Given the description of an element on the screen output the (x, y) to click on. 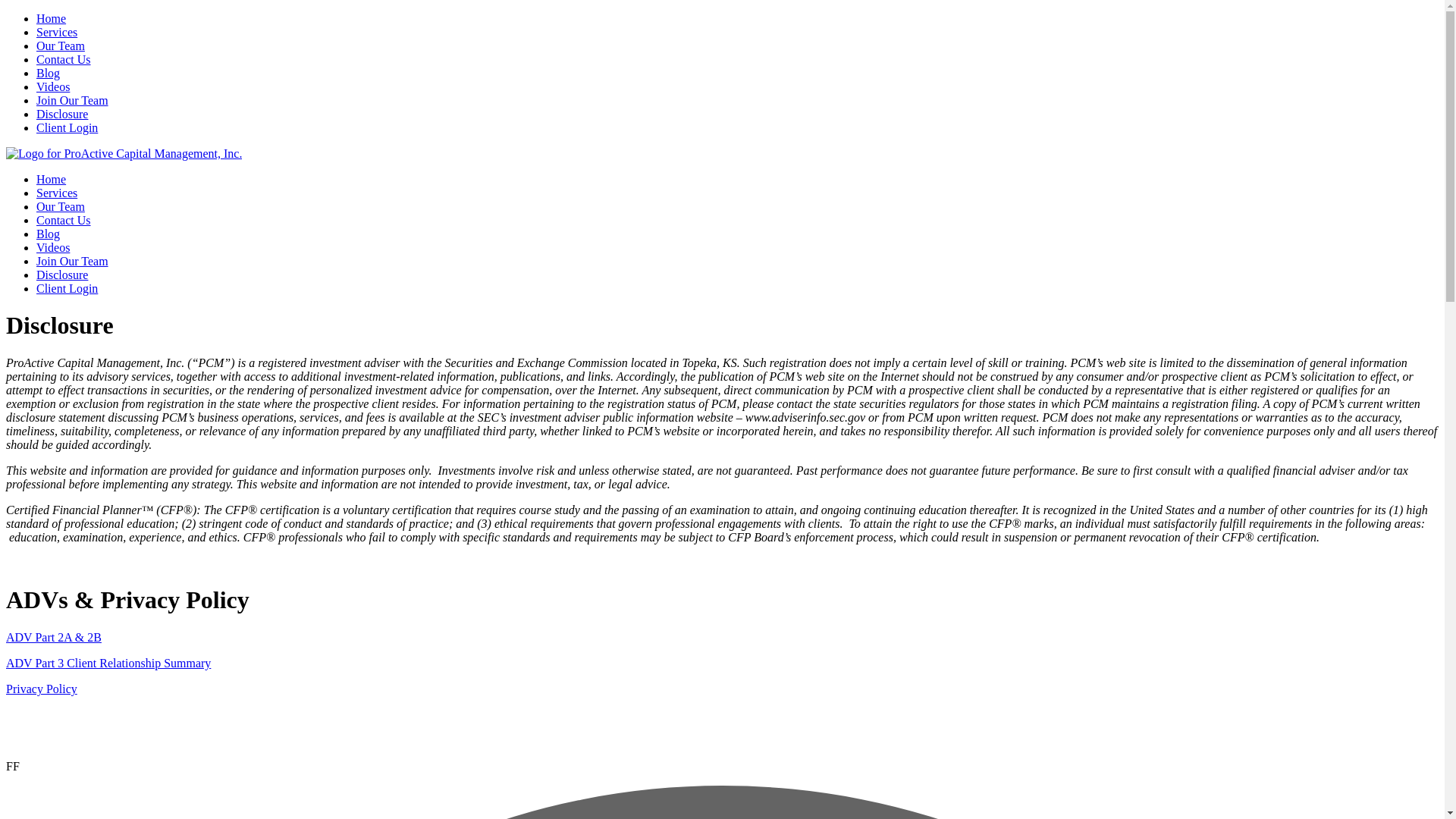
Client Login (66, 287)
Blog (47, 72)
Our Team (60, 205)
Home (50, 18)
Home (50, 178)
Client Login (66, 127)
Disclosure (61, 113)
Privacy Policy (41, 688)
Our Team (60, 45)
Contact Us (63, 59)
Services (56, 192)
Join Our Team (71, 100)
Blog (47, 233)
Contact Us (63, 219)
Disclosure (61, 274)
